Given the description of an element on the screen output the (x, y) to click on. 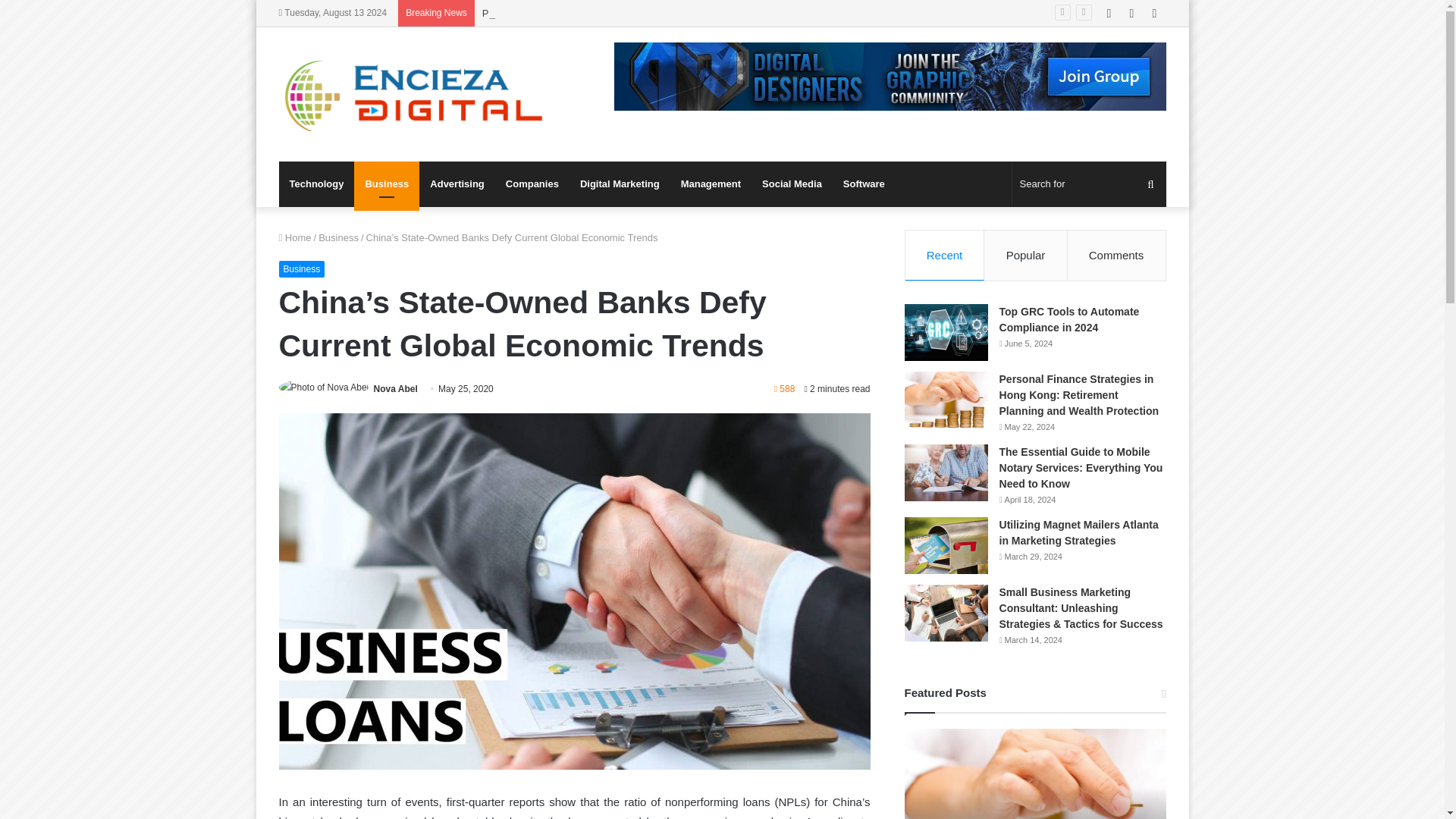
Social Media (791, 184)
Business (338, 237)
Business (386, 184)
Technology (317, 184)
Business (301, 269)
Home (295, 237)
Encieza Digital - Advice on Email Advertising (419, 94)
Search for (1088, 184)
Companies (532, 184)
